Given the description of an element on the screen output the (x, y) to click on. 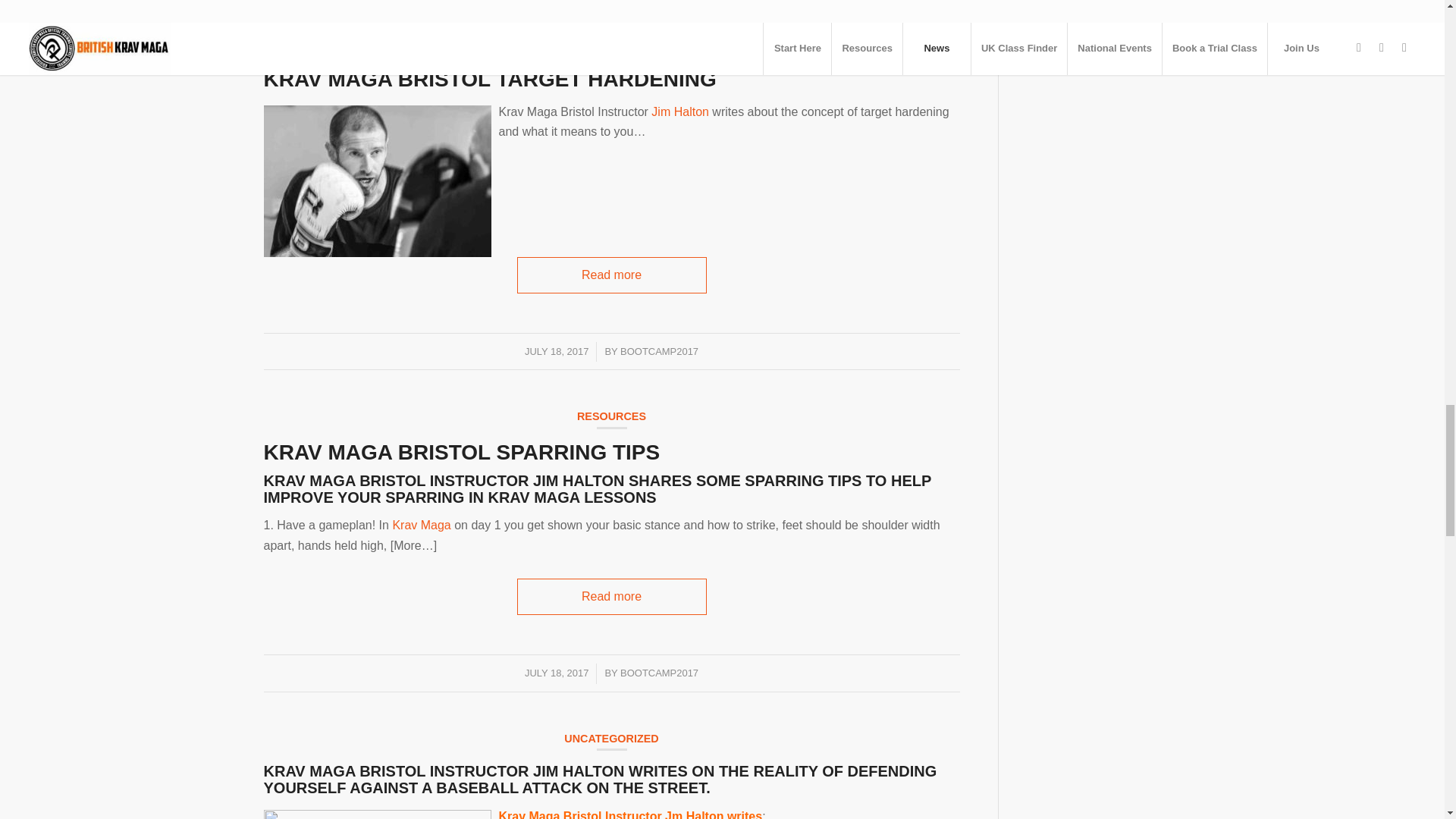
Permanent Link: Krav Maga Bristol Target Hardening (610, 18)
